Given the description of an element on the screen output the (x, y) to click on. 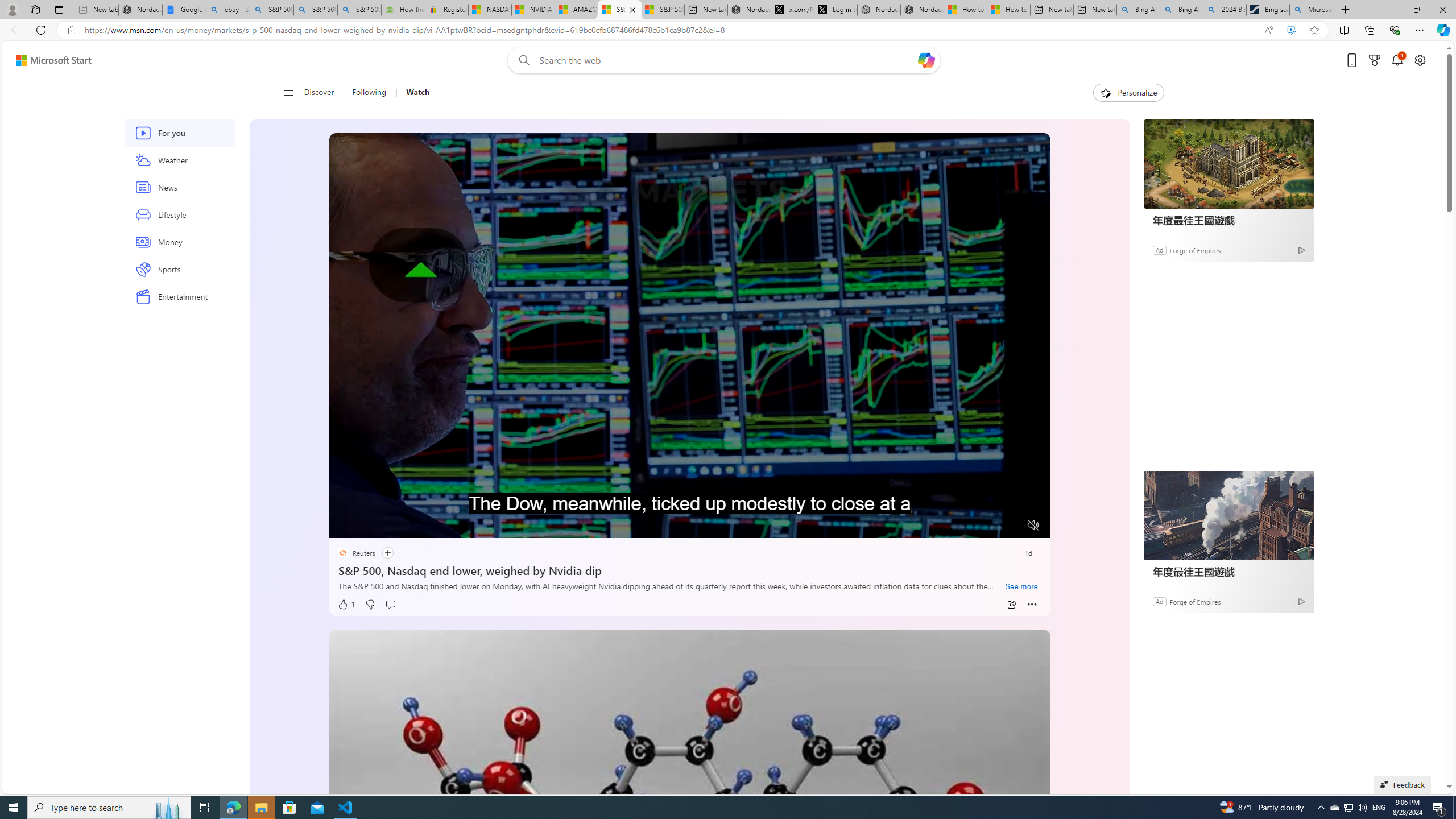
Seek Back (368, 525)
S&P 500 - Search (315, 9)
Microsoft rewards (1374, 60)
Follow (381, 553)
Web search (520, 60)
Feedback (1402, 784)
Workspaces (34, 9)
Ad (1158, 601)
Google Docs: Online Document Editor | Google Workspace (184, 9)
Enter your search term (726, 59)
Personalize (1128, 92)
Collections (1369, 29)
Following (370, 92)
Unmute (1033, 524)
